Given the description of an element on the screen output the (x, y) to click on. 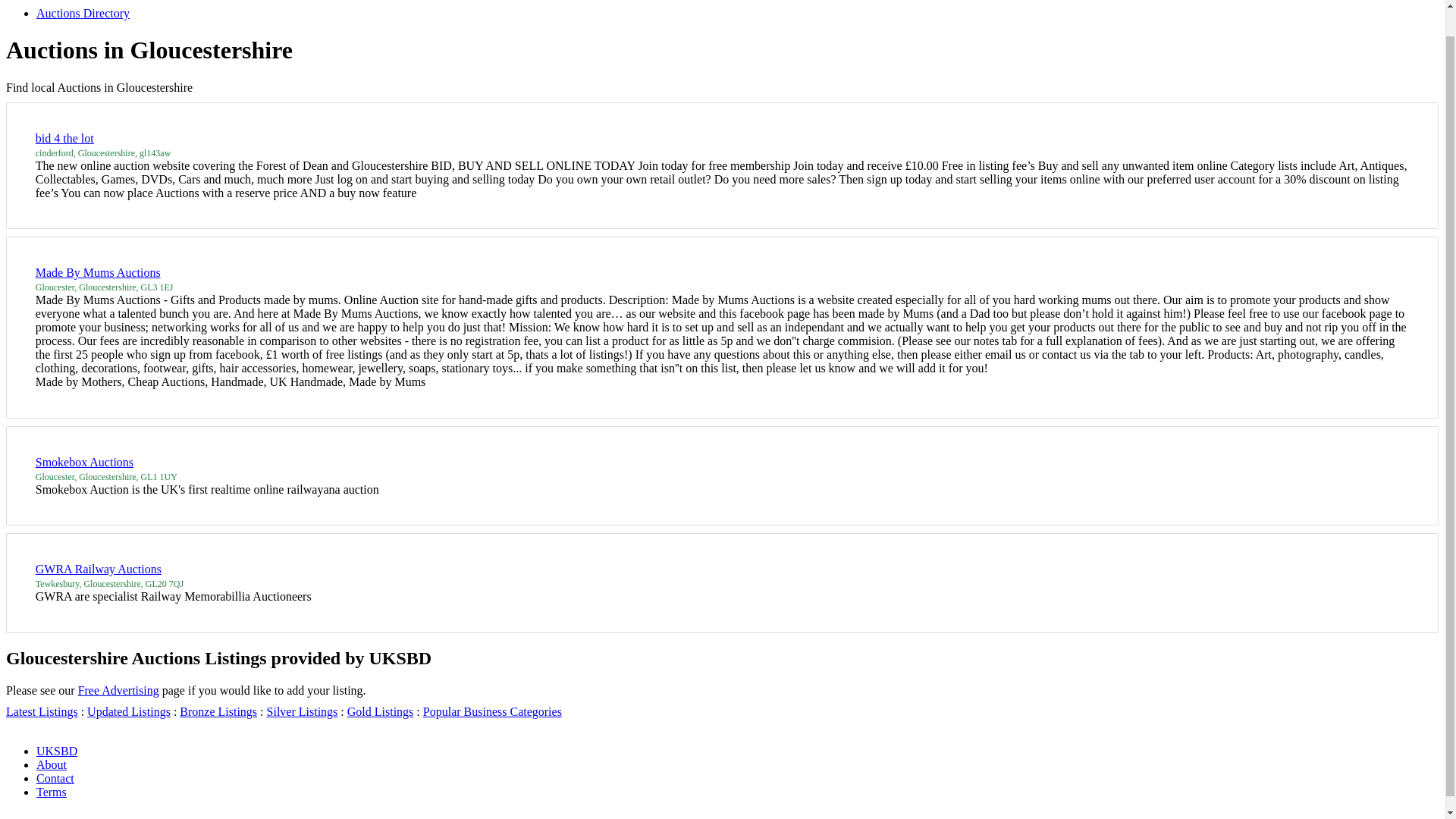
Free Advertising (118, 689)
About (51, 764)
Contact (55, 778)
GWRA Railway Auctions (97, 568)
bid 4 the lot (64, 137)
Terms (51, 791)
Gold Listings (380, 711)
Updated Listings (128, 711)
Bronze Listings (218, 711)
Smokebox Auctions (83, 461)
Latest Listings (41, 711)
UKSBD (56, 750)
Made By Mums Auctions (97, 272)
Silver Listings (301, 711)
Auctions Directory (82, 12)
